Given the description of an element on the screen output the (x, y) to click on. 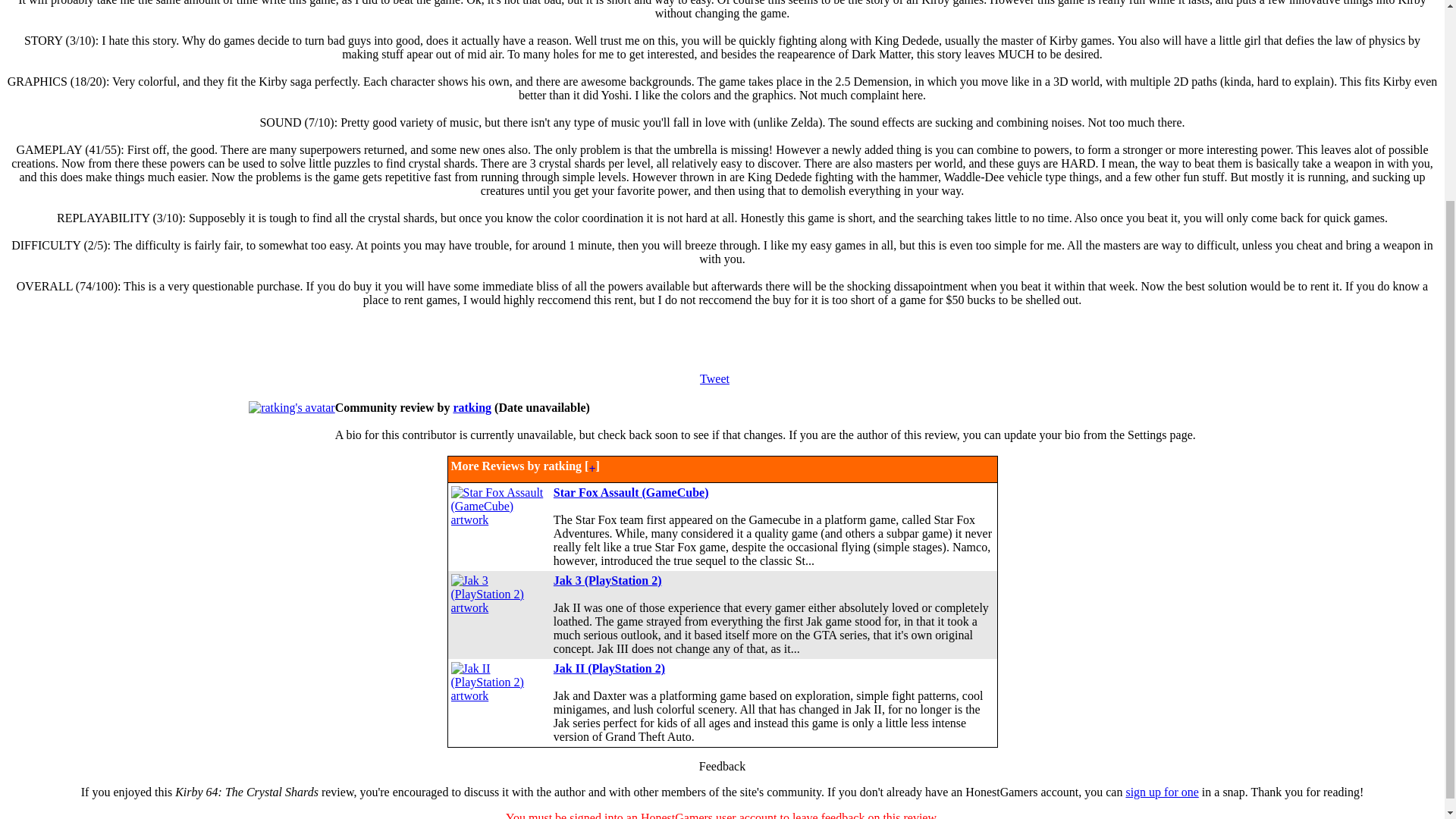
ratking (472, 407)
Tweet (714, 378)
sign up for one (1161, 791)
